Given the description of an element on the screen output the (x, y) to click on. 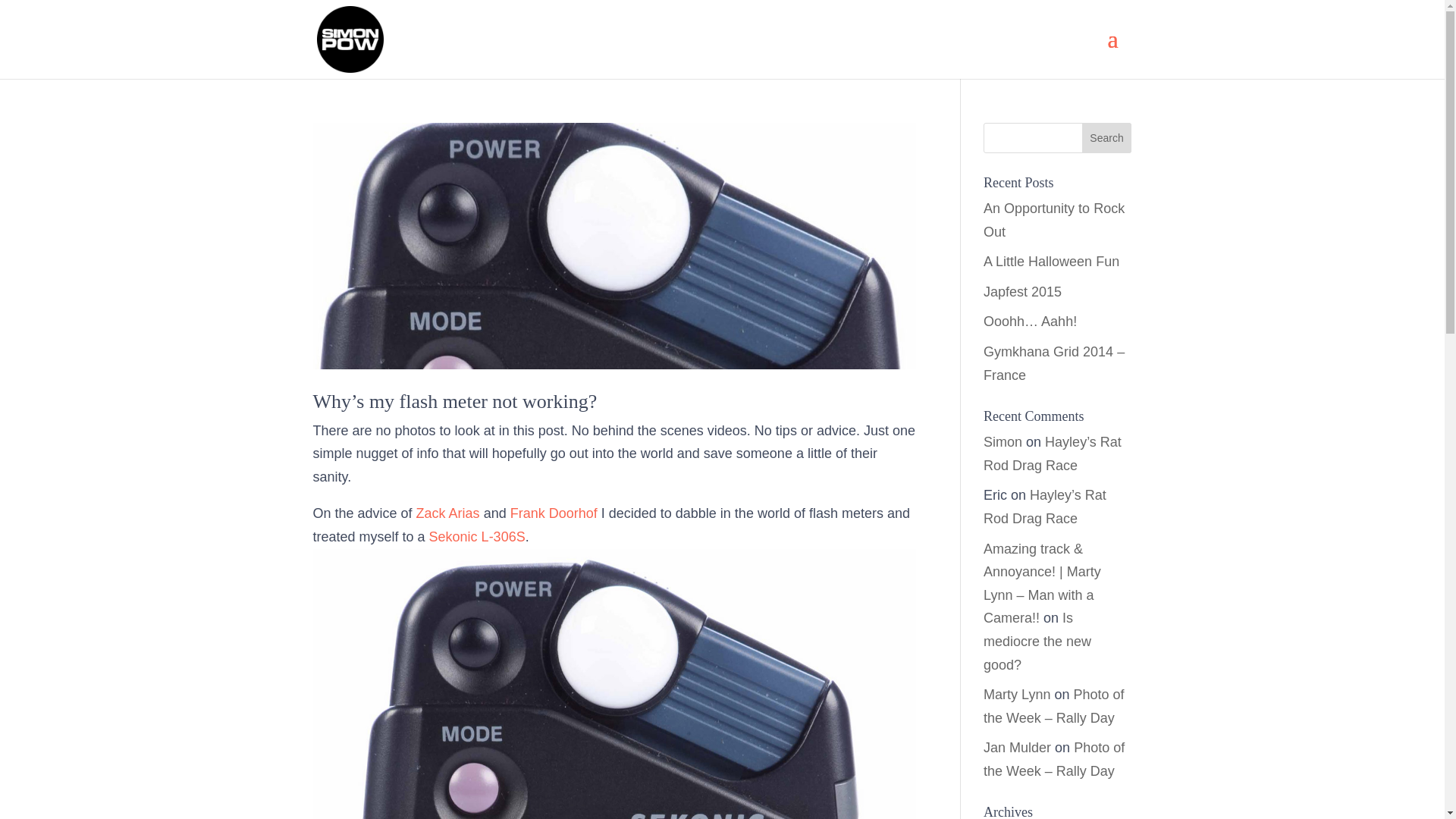
Sekonic L-308S (477, 536)
Search (1106, 137)
An Opportunity to Rock Out (1054, 219)
Frank Doorhof (553, 513)
A Little Halloween Fun (1051, 261)
Marty Lynn (1016, 694)
Jan Mulder (1017, 747)
Zack explains why (448, 513)
Sekonic L-306S (477, 536)
Search (1106, 137)
